Given the description of an element on the screen output the (x, y) to click on. 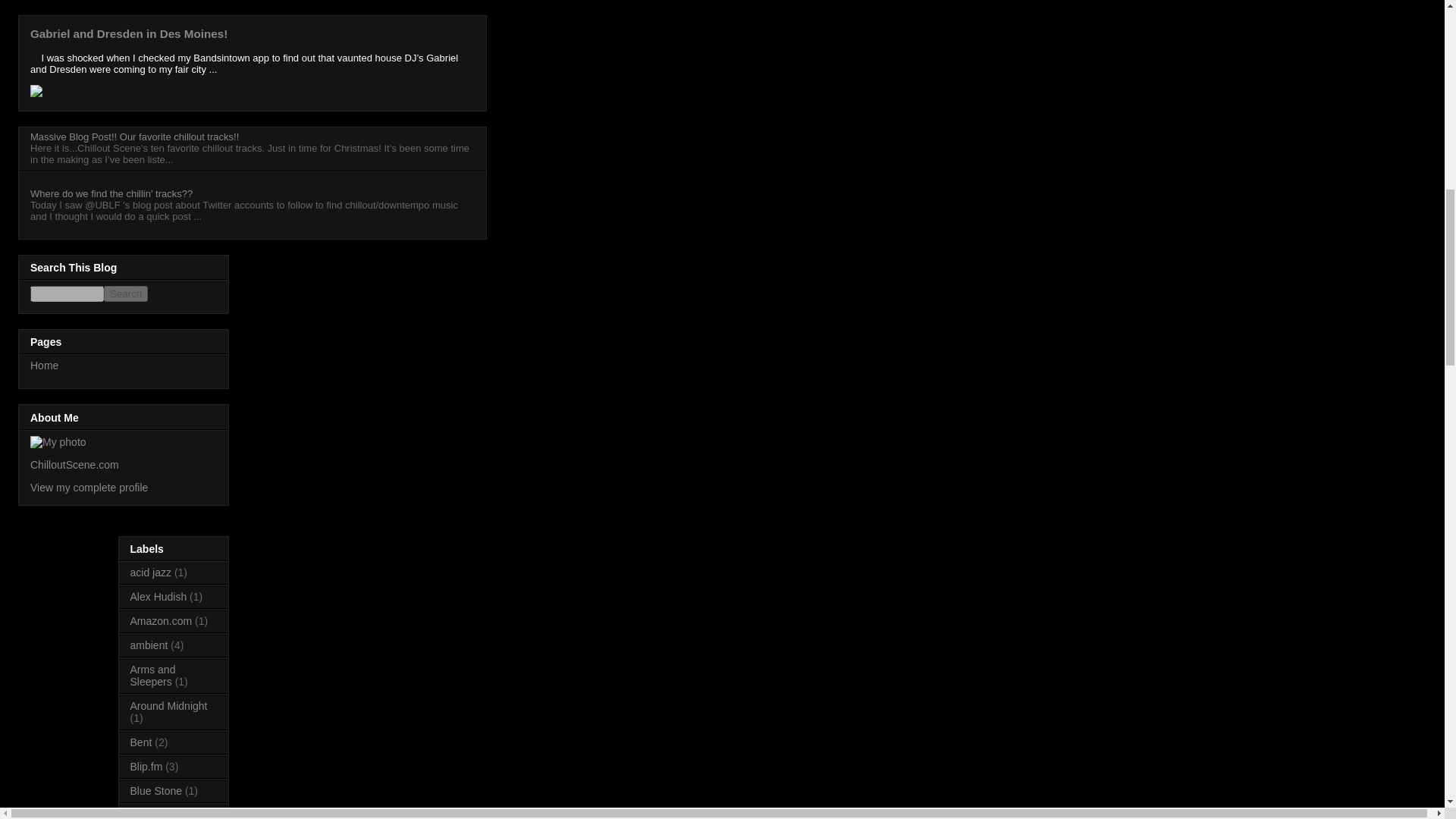
ChilloutScene.com (74, 464)
search (125, 293)
Arms and Sleepers (153, 675)
Gabriel and Dresden in Des Moines! (128, 33)
ambient (149, 645)
Amazon.com (161, 621)
Around Midnight (169, 705)
View my complete profile (89, 487)
Alex Hudish (159, 596)
Where do we find the chillin' tracks?? (111, 193)
search (66, 293)
acid jazz (151, 572)
Home (44, 365)
Search (125, 293)
Blip.fm (147, 766)
